Given the description of an element on the screen output the (x, y) to click on. 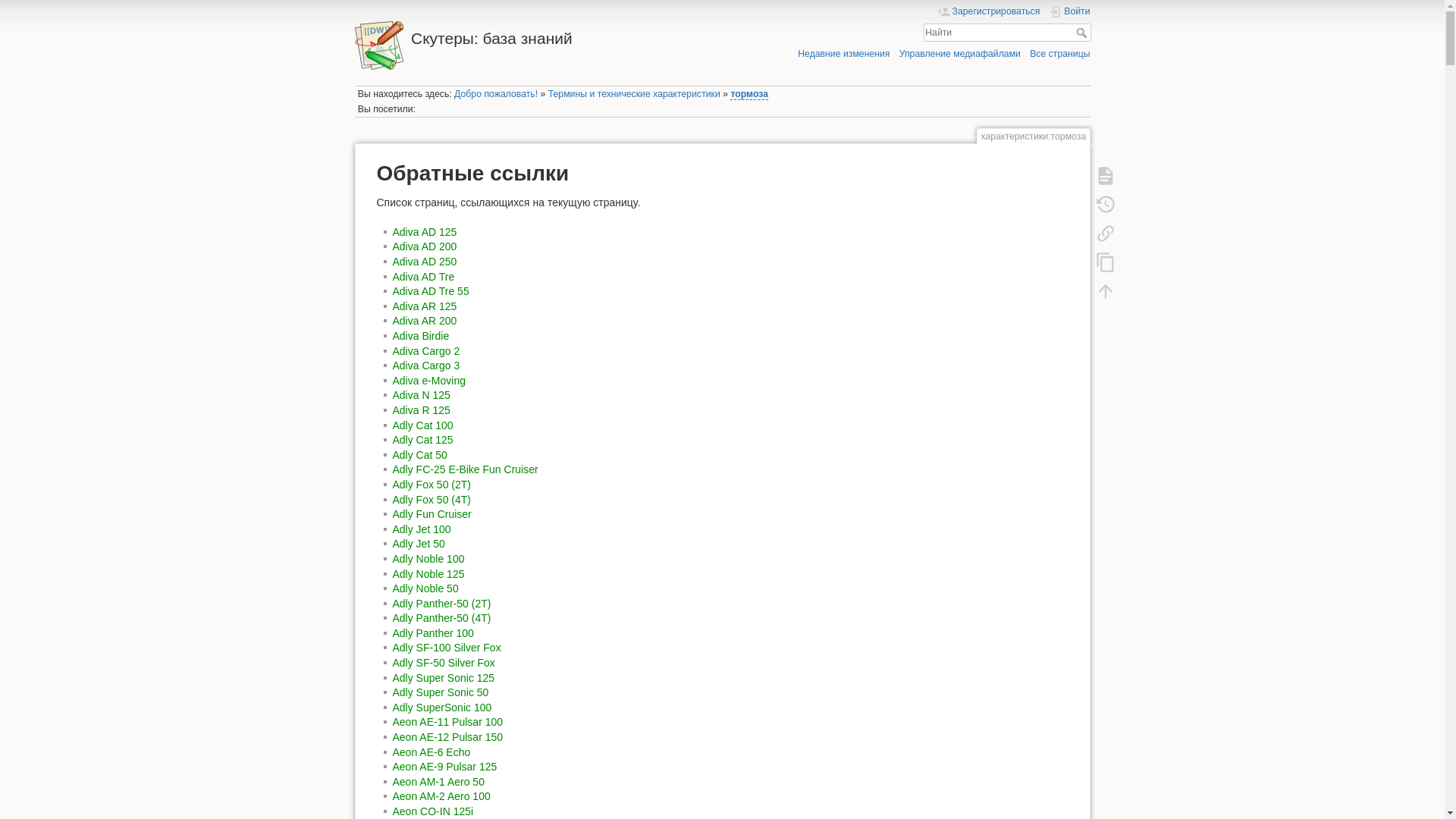
Adly SF-100 Silver Fox Element type: text (446, 647)
Adly Noble 50 Element type: text (425, 588)
Adly Super Sonic 125 Element type: text (443, 677)
Adly Fun Cruiser Element type: text (431, 514)
Adly Cat 50 Element type: text (419, 454)
Adly Fox 50 (4T) Element type: text (431, 499)
Adly Cat 100 Element type: text (422, 425)
Aeon AE-11 Pulsar 100 Element type: text (447, 721)
[F] Element type: hover (1007, 32)
Adiva AD 250 Element type: text (424, 261)
Adly SuperSonic 100 Element type: text (442, 707)
Copy this page Element type: hover (1104, 261)
Adiva AD Tre 55 Element type: text (430, 291)
Adly Panther-50 (2T) Element type: text (441, 603)
Adiva AR 200 Element type: text (424, 320)
Adly SF-50 Silver Fox Element type: text (443, 662)
Adly Jet 100 Element type: text (421, 529)
Adiva Birdie Element type: text (420, 335)
Aeon AM-2 Aero 100 Element type: text (441, 796)
Adiva Cargo 2 Element type: text (426, 351)
Adiva AD 200 Element type: text (424, 246)
Aeon AE-9 Pulsar 125 Element type: text (444, 766)
Adiva N 125 Element type: text (421, 395)
Adly Fox 50 (2T) Element type: text (431, 484)
Adiva Cargo 3 Element type: text (426, 365)
Aeon AM-1 Aero 50 Element type: text (438, 781)
Adly Jet 50 Element type: text (418, 543)
Adly Panther 100 Element type: text (432, 633)
Adiva AD 125 Element type: text (424, 231)
Adly Noble 125 Element type: text (428, 573)
Aeon CO-IN 125i Element type: text (432, 811)
Adly Noble 100 Element type: text (428, 558)
Adly Super Sonic 50 Element type: text (440, 692)
Adiva R 125 Element type: text (421, 410)
Aeon AE-6 Echo Element type: text (431, 752)
Adiva AR 125 Element type: text (424, 306)
Adly FC-25 E-Bike Fun Cruiser Element type: text (465, 469)
Adiva e-Moving Element type: text (429, 380)
Adly Panther-50 (4T) Element type: text (441, 617)
Adly Cat 125 Element type: text (422, 439)
Adiva AD Tre Element type: text (423, 276)
Aeon AE-12 Pulsar 150 Element type: text (447, 737)
